Given the description of an element on the screen output the (x, y) to click on. 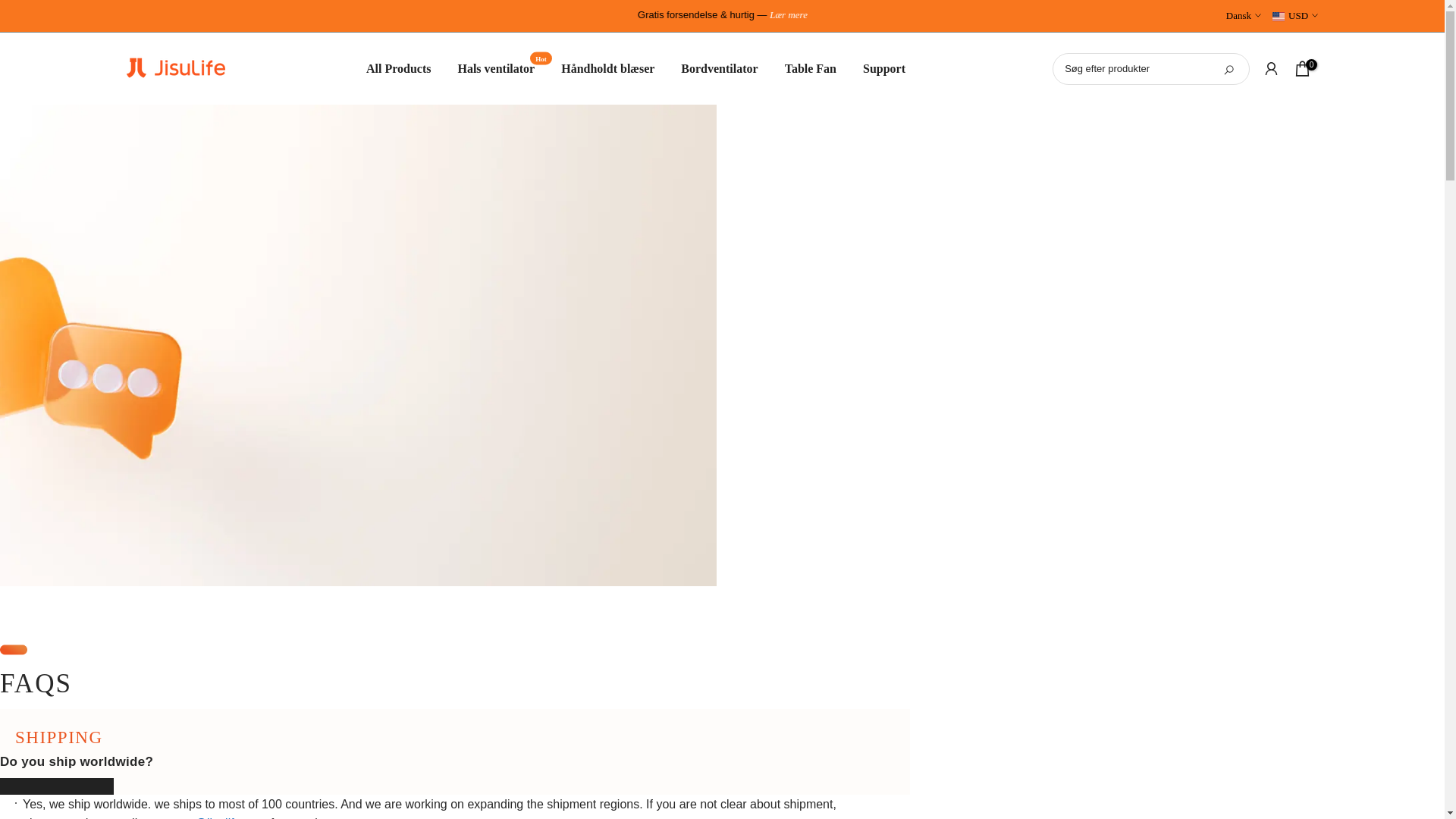
Forsendelsespolitik (789, 14)
Dansk (1242, 15)
USD (1294, 15)
